Given the description of an element on the screen output the (x, y) to click on. 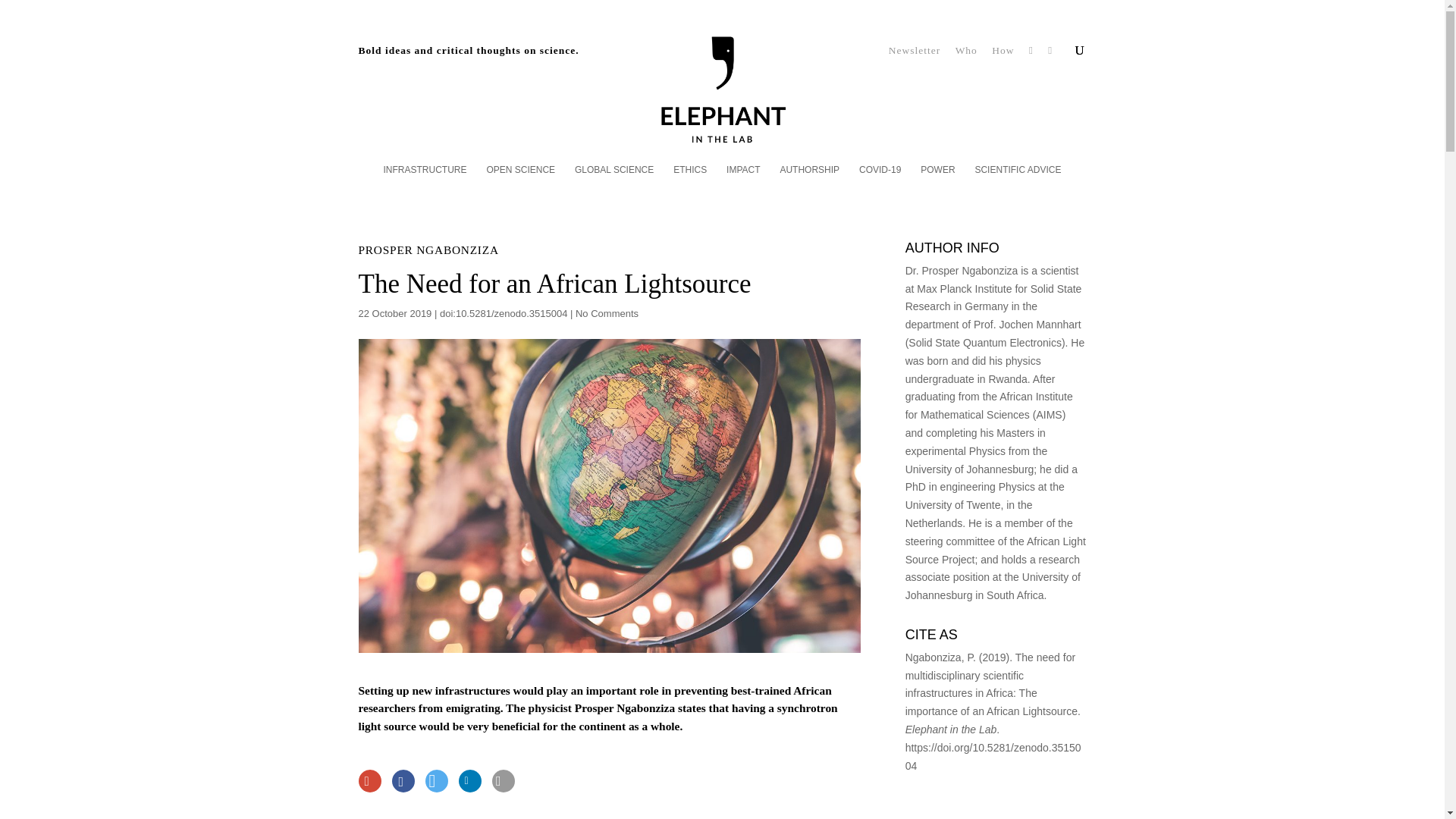
mail (502, 780)
tweet (435, 780)
GLOBAL SCIENCE (614, 180)
Visit publication on zenodo (993, 757)
Newsletter (914, 54)
Share on LinkedIn (469, 780)
Who (965, 54)
ETHICS (689, 180)
IMPACT (743, 180)
OPEN SCIENCE (520, 180)
Share on Facebook (402, 780)
INFRASTRUCTURE (425, 180)
share (402, 780)
How (1002, 54)
Send by email (502, 780)
